Given the description of an element on the screen output the (x, y) to click on. 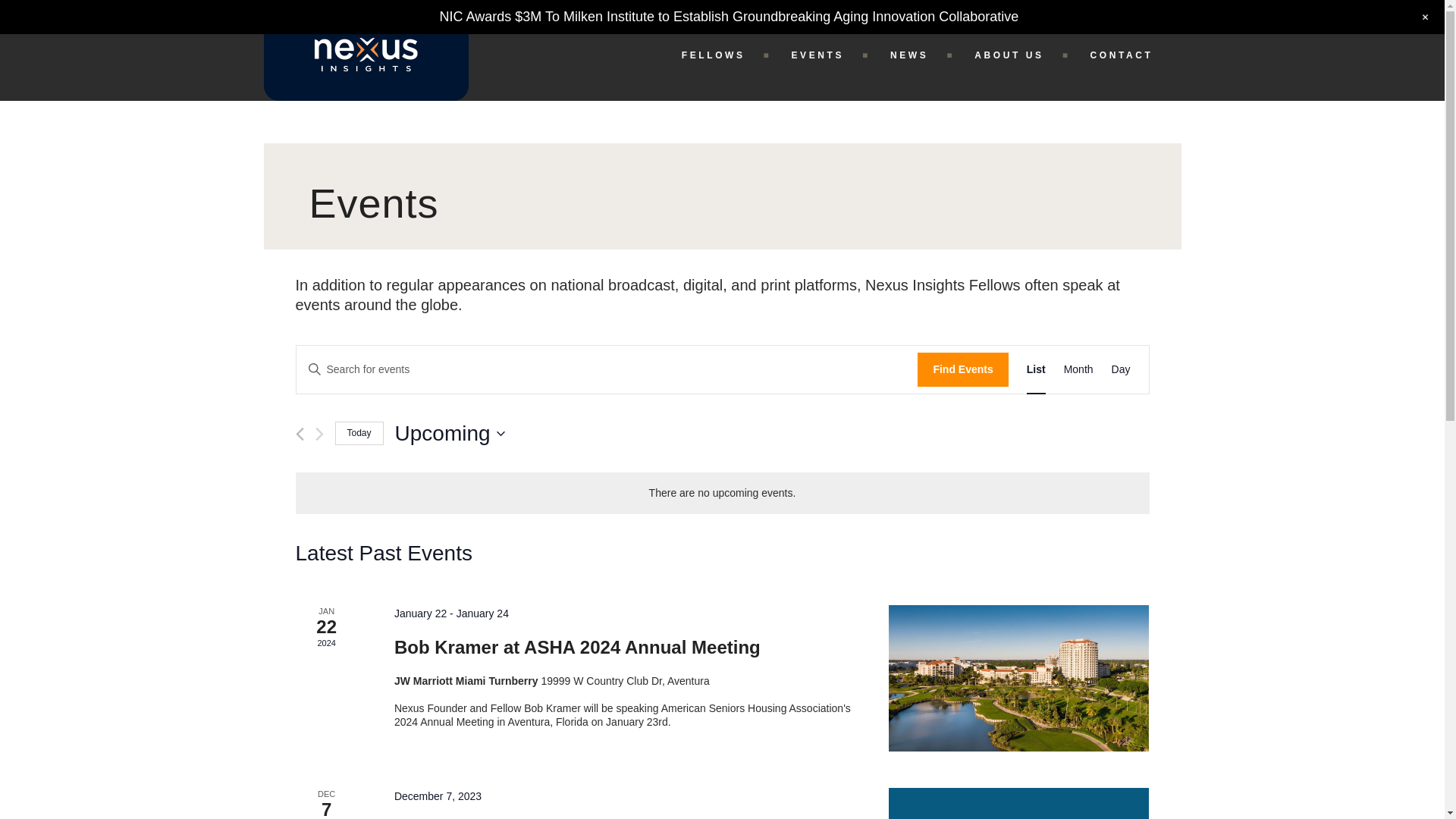
Click to toggle datepicker (449, 433)
FELLOWS (726, 54)
Bob Kramer at ASHA 2024 Annual Meeting (577, 647)
Find Events (962, 369)
ABOUT US (1021, 54)
Events (721, 193)
Aging Media Continuum Conference (1018, 803)
CONTACT (1130, 54)
EVENTS (829, 54)
NEWS (921, 54)
